Given the description of an element on the screen output the (x, y) to click on. 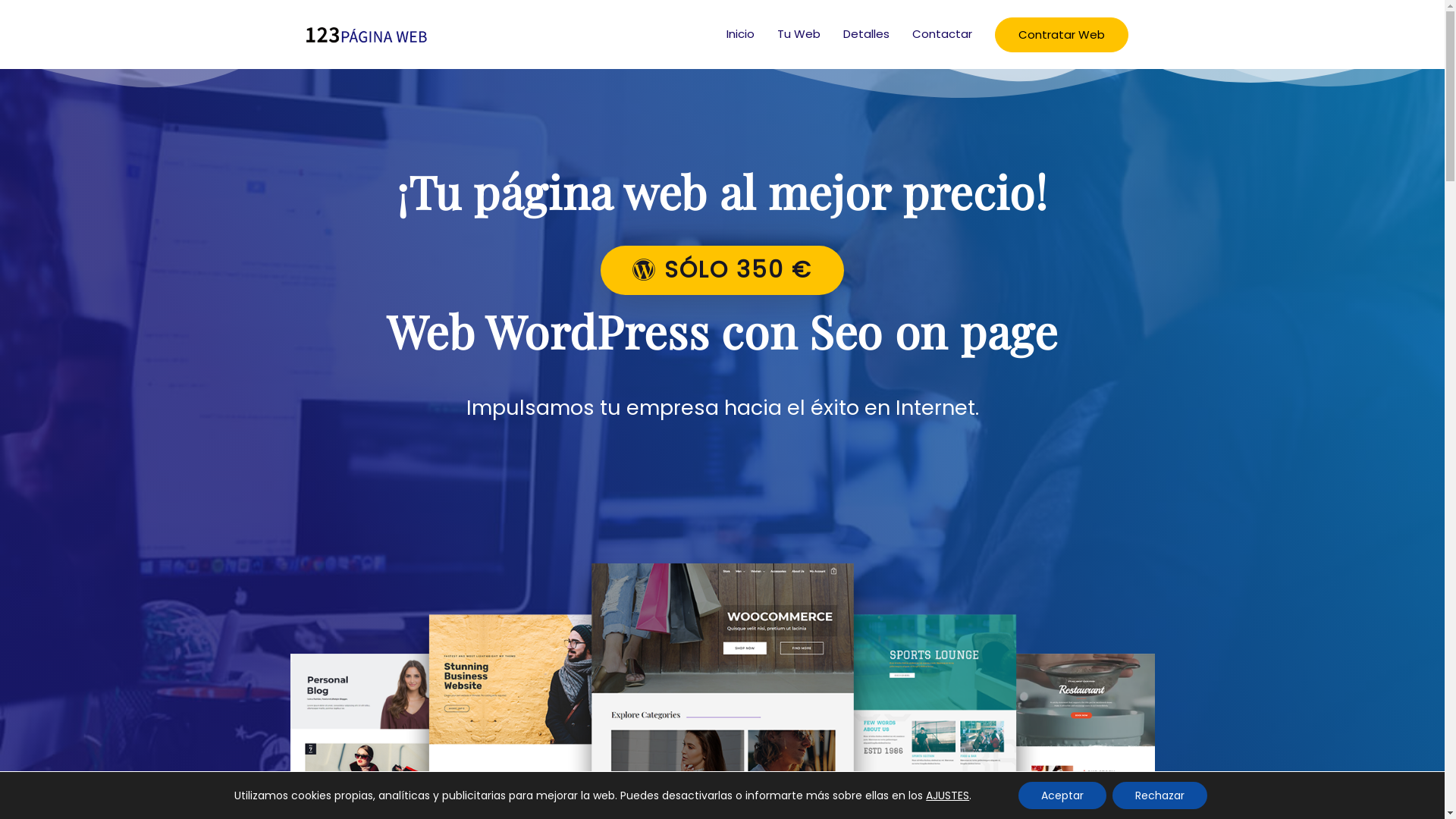
Contratar Web Element type: text (1061, 34)
Contactar Element type: text (941, 33)
Detalles Element type: text (865, 33)
Tu Web Element type: text (798, 33)
Rechazar Element type: text (1159, 795)
Contratar Web Element type: text (1061, 34)
Aceptar Element type: text (1062, 795)
Inicio Element type: text (739, 33)
